Given the description of an element on the screen output the (x, y) to click on. 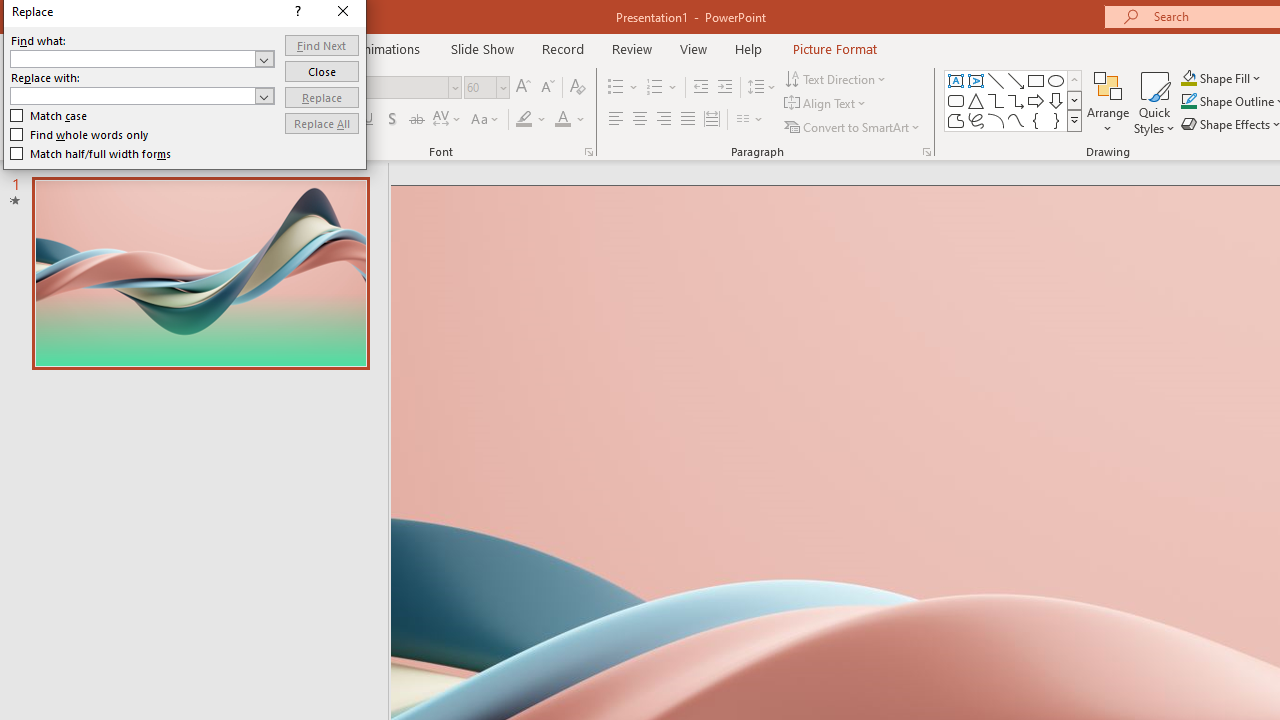
Rectangle: Rounded Corners (955, 100)
Character Spacing (447, 119)
Quick Styles (1154, 102)
Increase Font Size (522, 87)
Center (639, 119)
Isosceles Triangle (975, 100)
Underline (369, 119)
Strikethrough (416, 119)
